Given the description of an element on the screen output the (x, y) to click on. 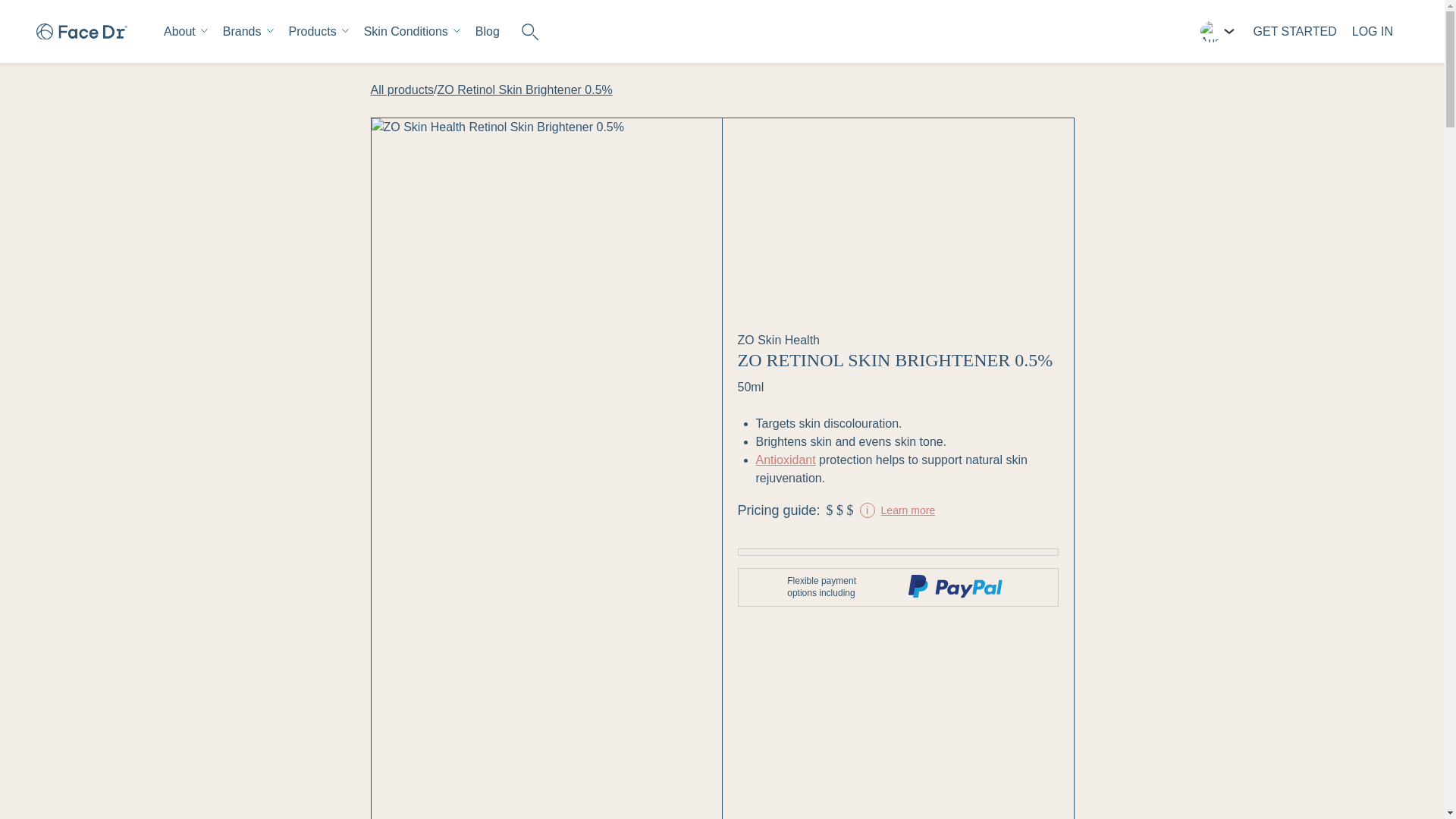
Products (318, 31)
Skin Conditions (412, 31)
About (185, 31)
Brands (247, 31)
Facedr: Click To Go To Homepage (82, 30)
